Given the description of an element on the screen output the (x, y) to click on. 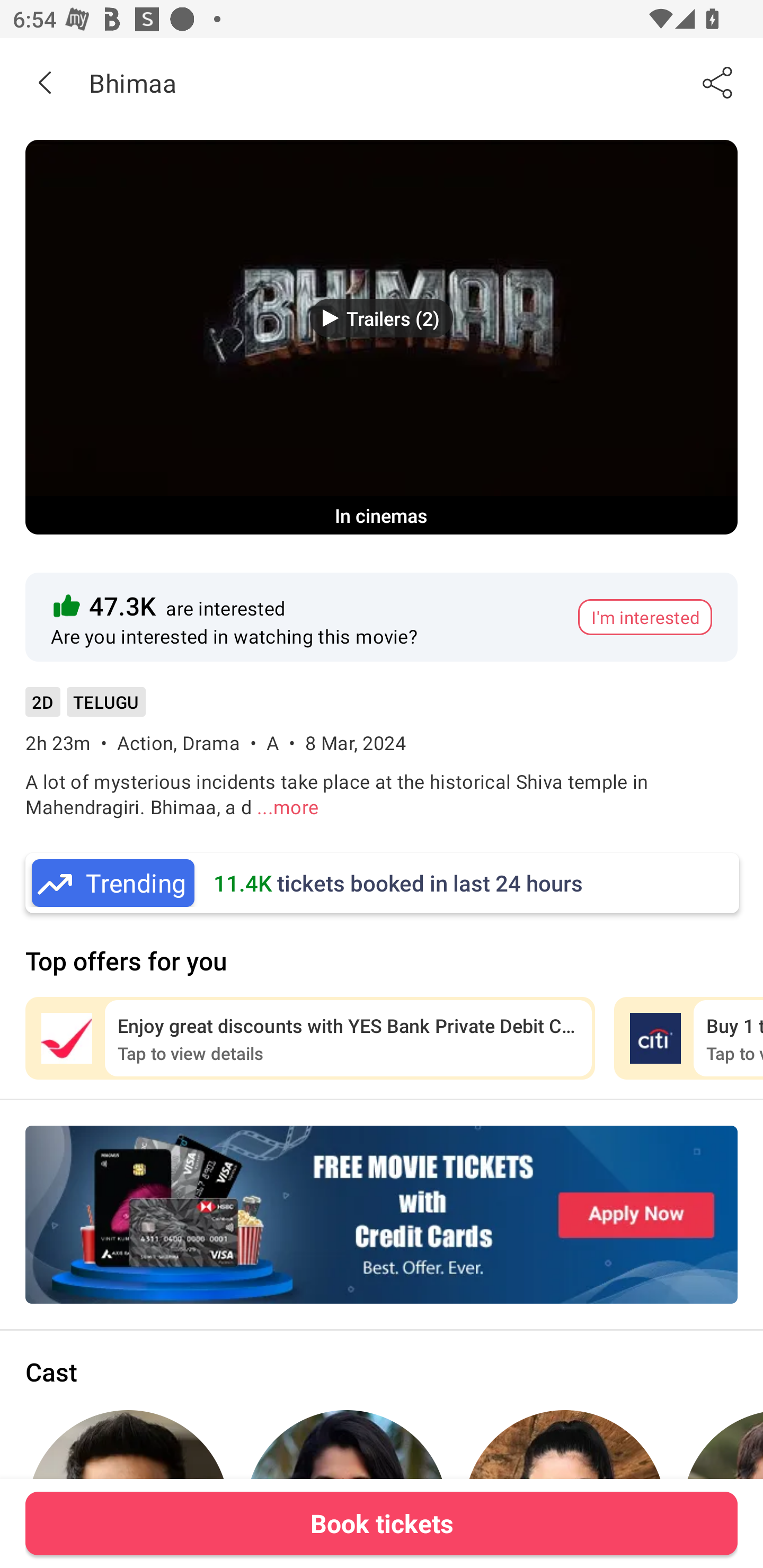
Back (44, 82)
Share (718, 82)
Movie Banner Trailers (2) In cinemas (381, 336)
Trailers (2) (381, 318)
I'm interested (644, 616)
2D TELUGU (85, 707)
Book tickets (381, 1523)
